Given the description of an element on the screen output the (x, y) to click on. 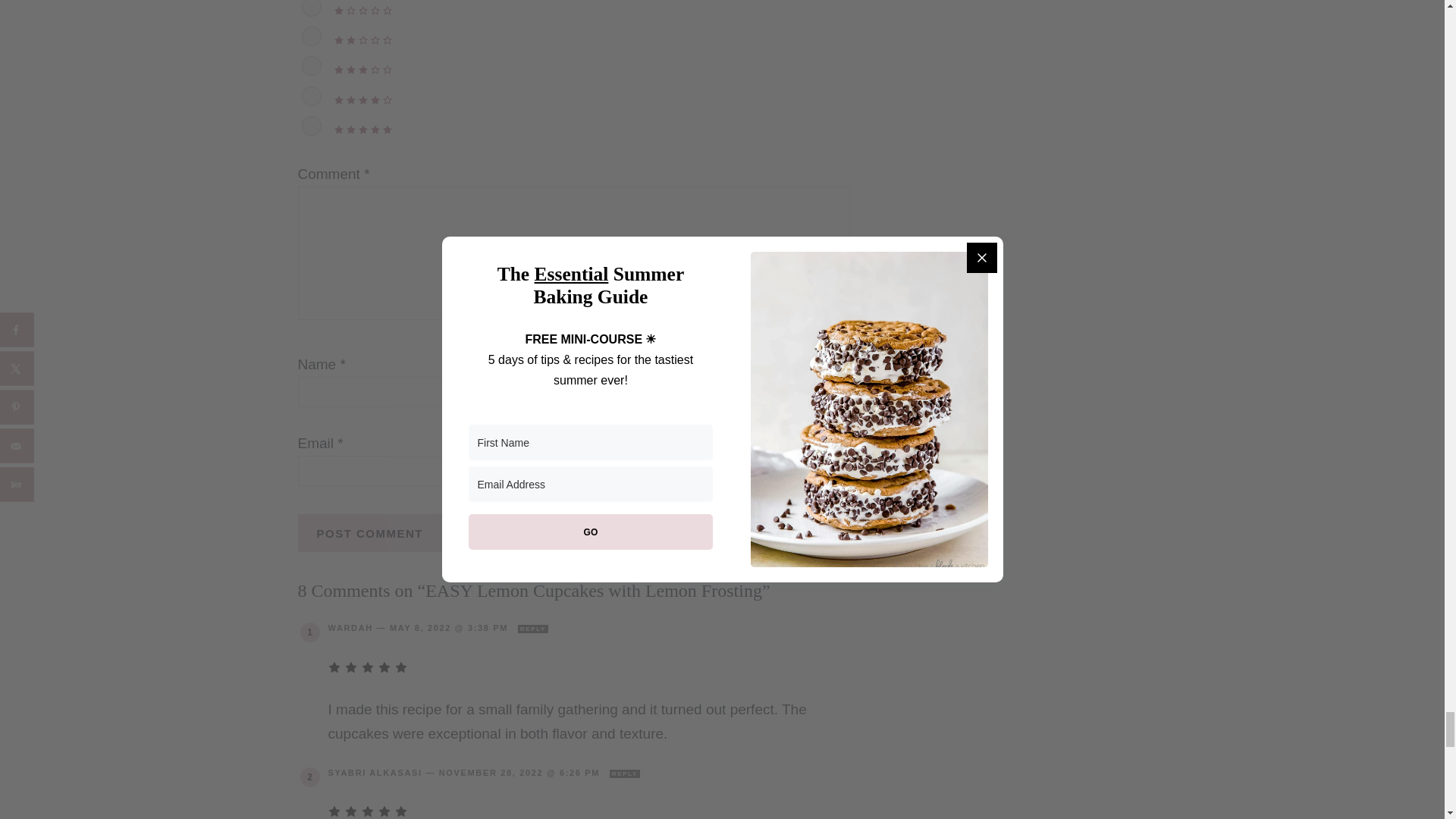
4 (311, 96)
1 (311, 8)
3 (311, 66)
5 (311, 125)
2 (311, 35)
Post Comment (369, 533)
